Given the description of an element on the screen output the (x, y) to click on. 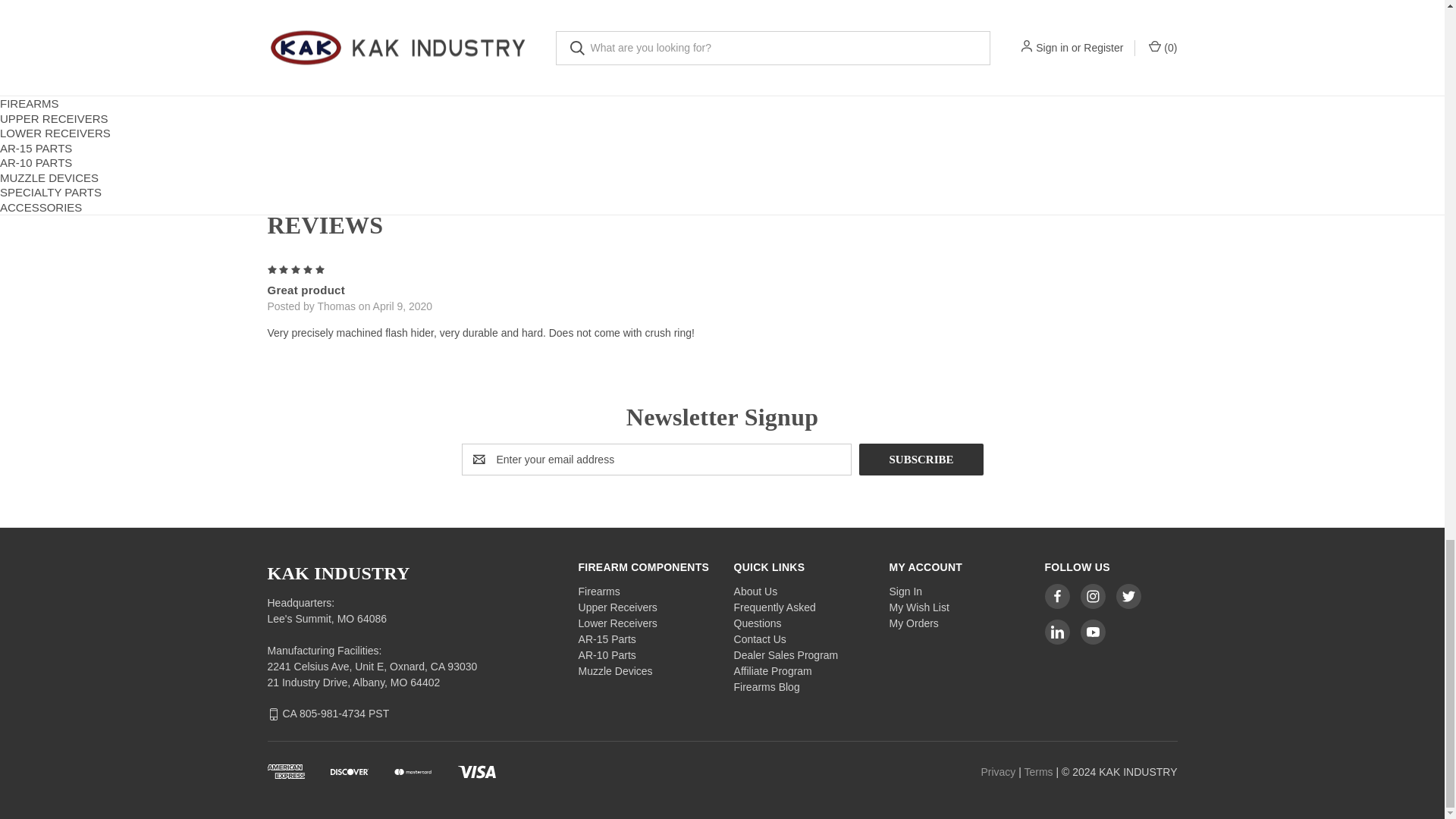
Subscribe (920, 459)
